Given the description of an element on the screen output the (x, y) to click on. 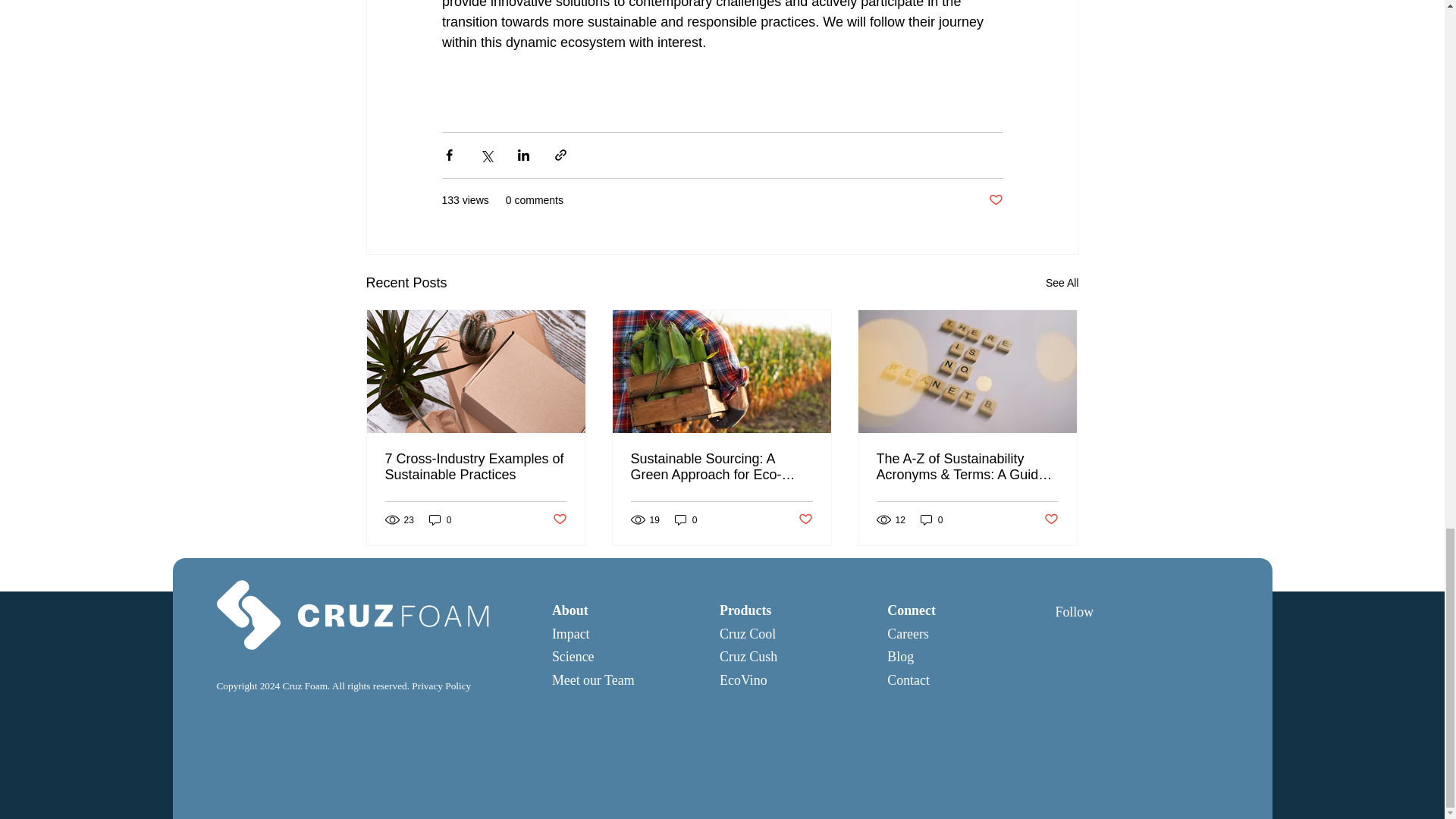
7 Cross-Industry Examples of Sustainable Practices (476, 467)
0 (685, 519)
0 (440, 519)
Post not marked as liked (558, 519)
0 (931, 519)
See All (1061, 282)
Post not marked as liked (995, 200)
Post not marked as liked (804, 519)
